Given the description of an element on the screen output the (x, y) to click on. 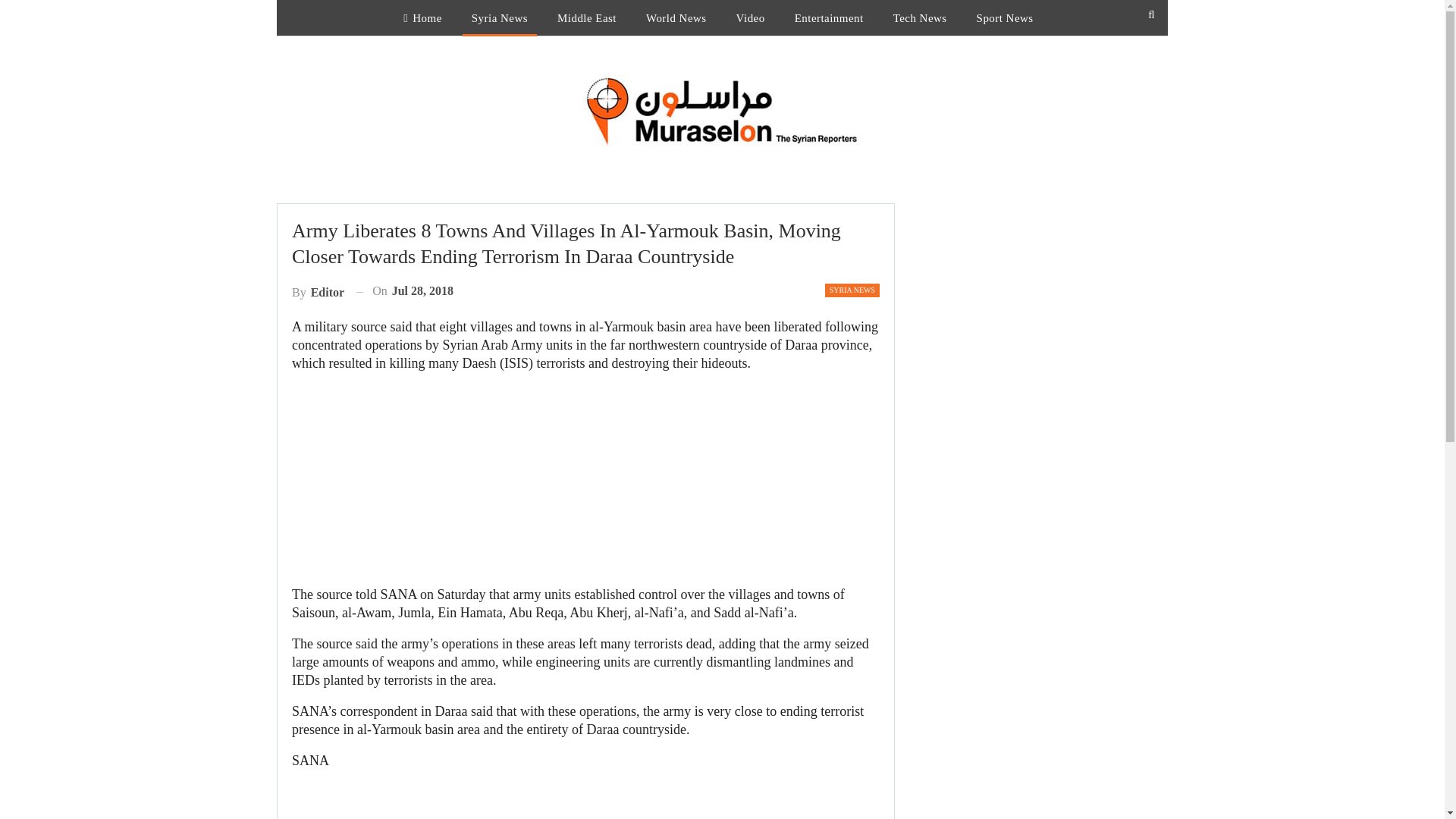
Home (421, 18)
Syria News (500, 18)
Entertainment (829, 18)
Video (750, 18)
Sport News (1005, 18)
Middle East (587, 18)
By Editor (317, 291)
World News (676, 18)
SYRIA NEWS (852, 290)
Browse Author Articles (317, 291)
Tech News (919, 18)
